Given the description of an element on the screen output the (x, y) to click on. 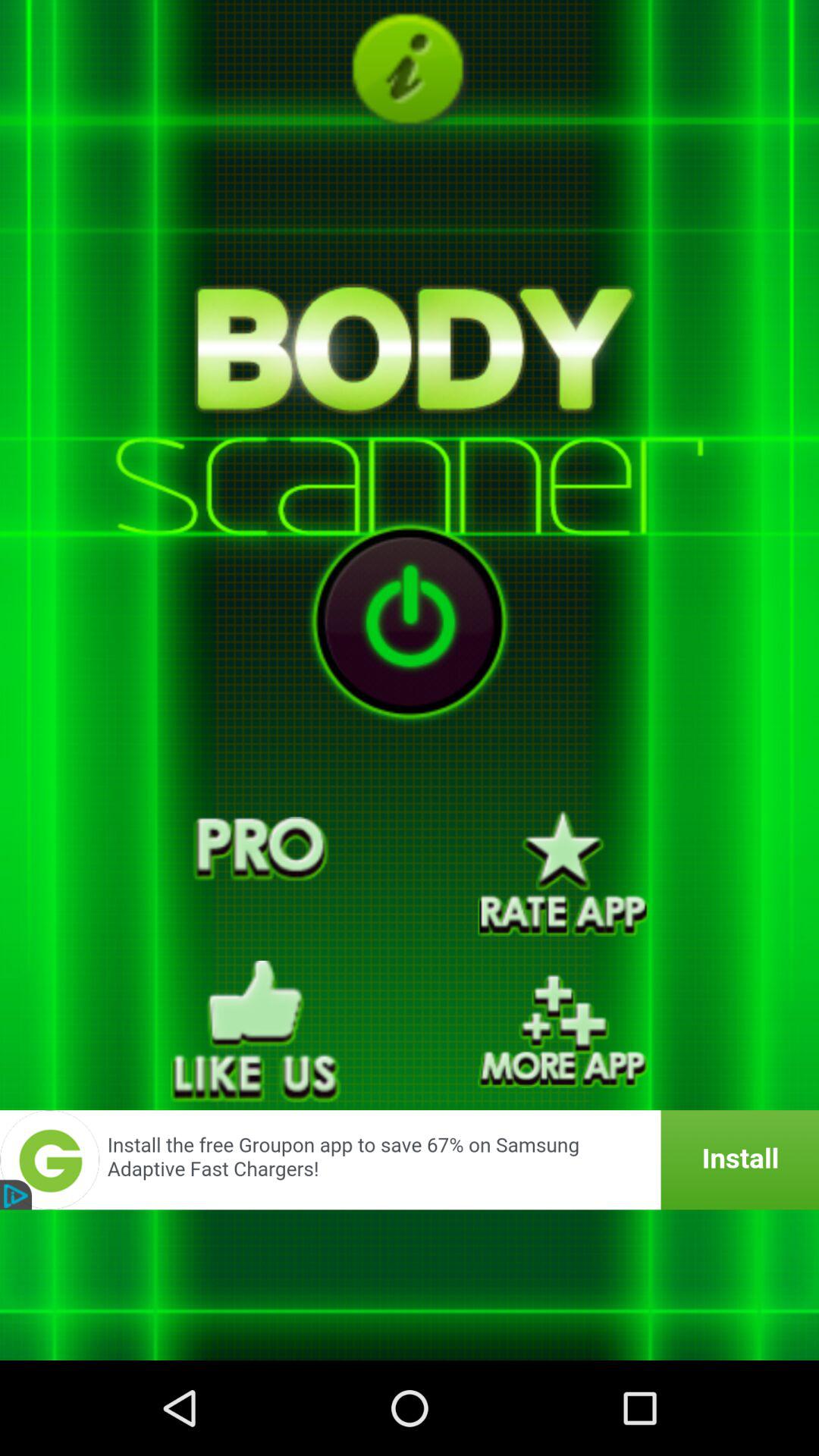
install app (409, 1159)
